Given the description of an element on the screen output the (x, y) to click on. 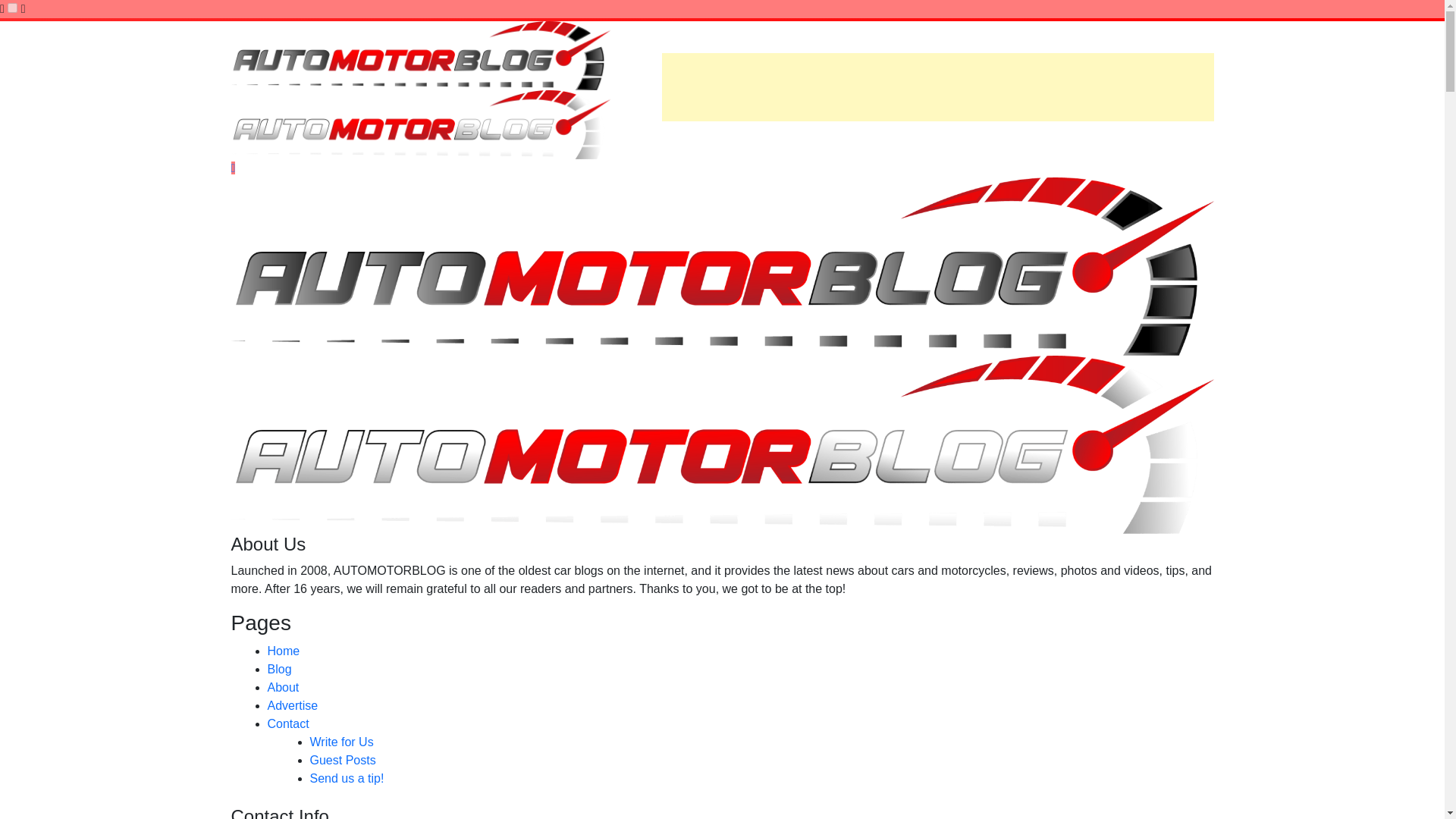
Contact (287, 723)
About (282, 686)
on (12, 8)
Home (282, 650)
Blog (278, 668)
Guest Posts (341, 759)
Send us a tip! (346, 778)
Advertise (291, 705)
Advertisement (936, 87)
Write for Us (340, 741)
